Given the description of an element on the screen output the (x, y) to click on. 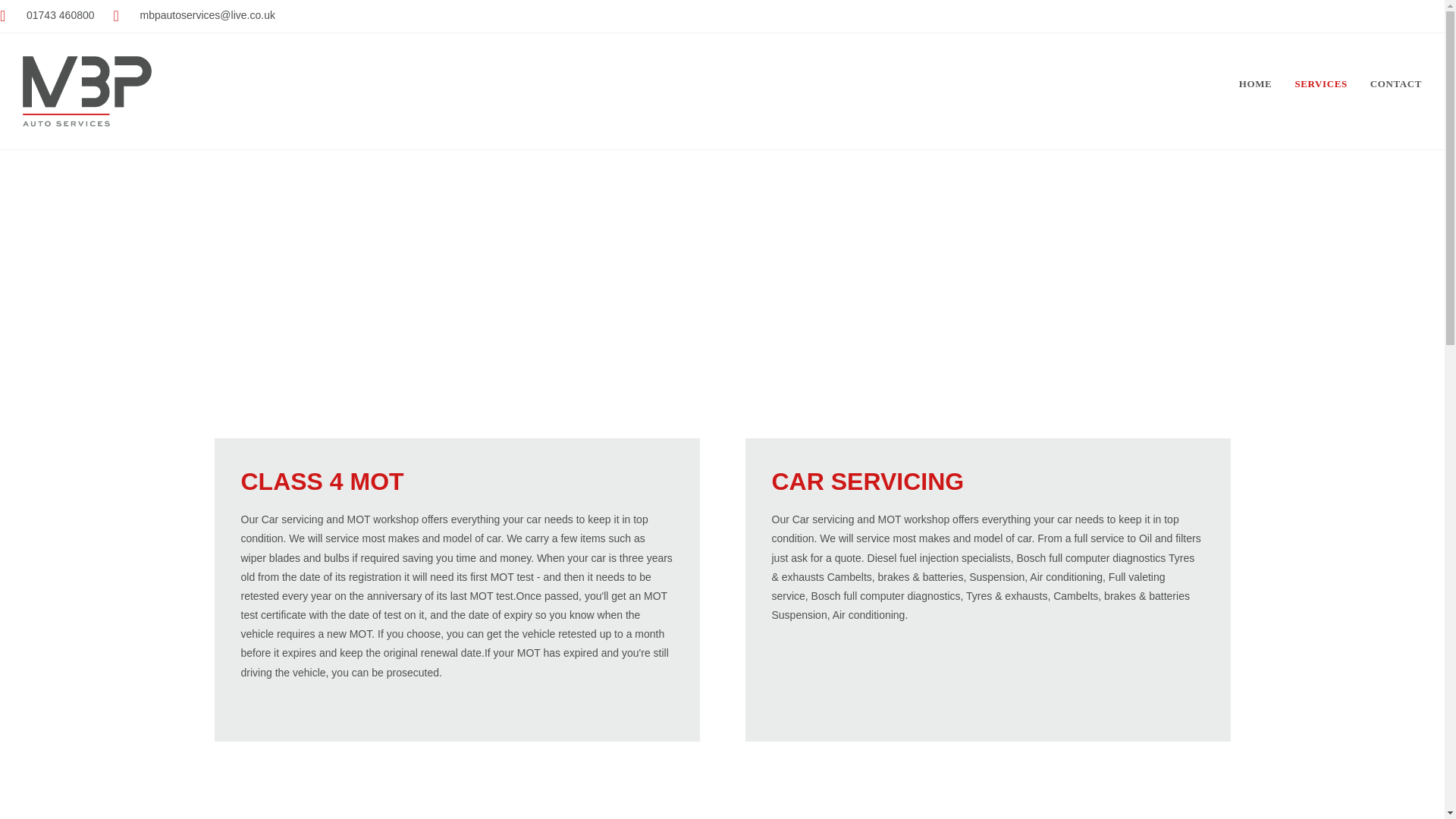
Tryes (721, 662)
CONTACT (1395, 84)
Injection Specialist (721, 643)
MOT Station (721, 587)
01743 460800 (296, 587)
HOME (1255, 84)
Website by Sparkagency.uk (721, 780)
Car Servicing (721, 606)
Air Conditioning (721, 682)
ARE YOU INTERESTED? (1110, 383)
01743 460800 (47, 15)
Diagnostics (721, 624)
SERVICES (1320, 84)
